Given the description of an element on the screen output the (x, y) to click on. 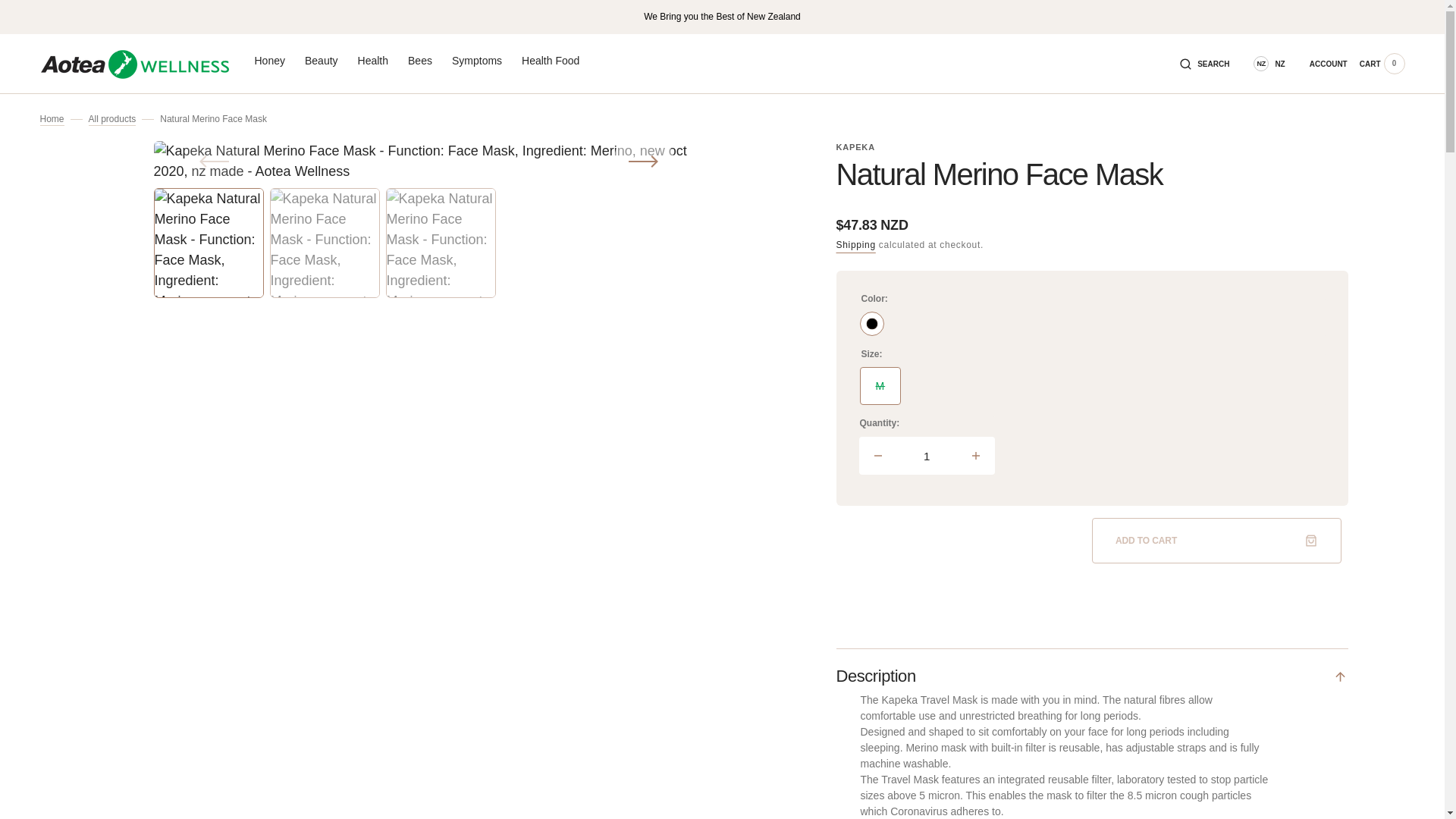
Symptoms (476, 60)
Search (1212, 63)
Black (871, 323)
Health Food (550, 60)
SKIP TO CONTENT (37, 22)
Home (51, 119)
1 (926, 455)
